Given the description of an element on the screen output the (x, y) to click on. 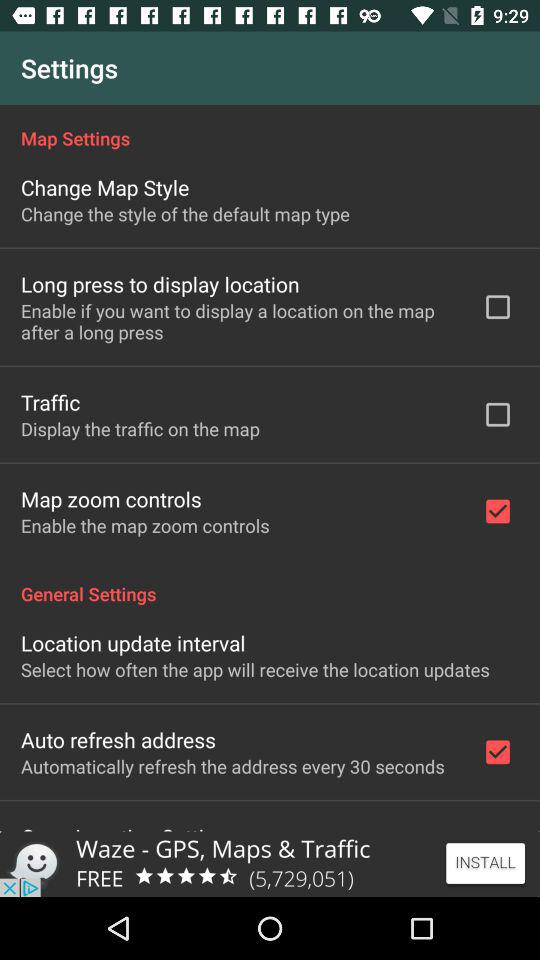
open app below long press to icon (238, 321)
